Given the description of an element on the screen output the (x, y) to click on. 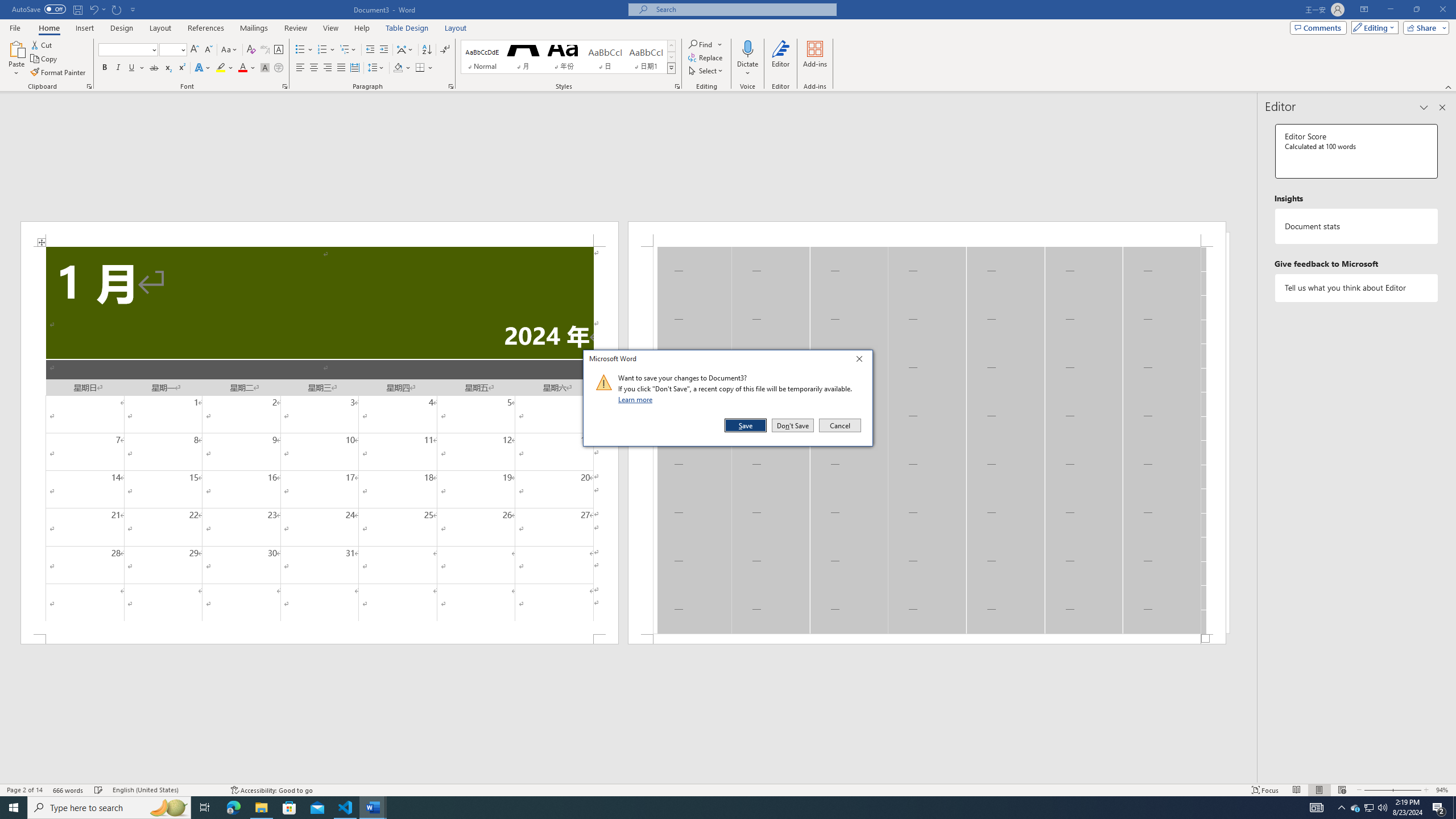
Find (700, 44)
Q2790: 100% (1382, 807)
Font (128, 49)
Word - 2 running windows (373, 807)
Type here to search (108, 807)
Text Highlight Color (224, 67)
Font Color RGB(255, 0, 0) (241, 67)
Cancel (839, 425)
Undo Apply Quick Style (96, 9)
Shrink Font (208, 49)
Borders (424, 67)
Mailings (253, 28)
Web Layout (1342, 790)
Action Center, 2 new notifications (1439, 807)
